Given the description of an element on the screen output the (x, y) to click on. 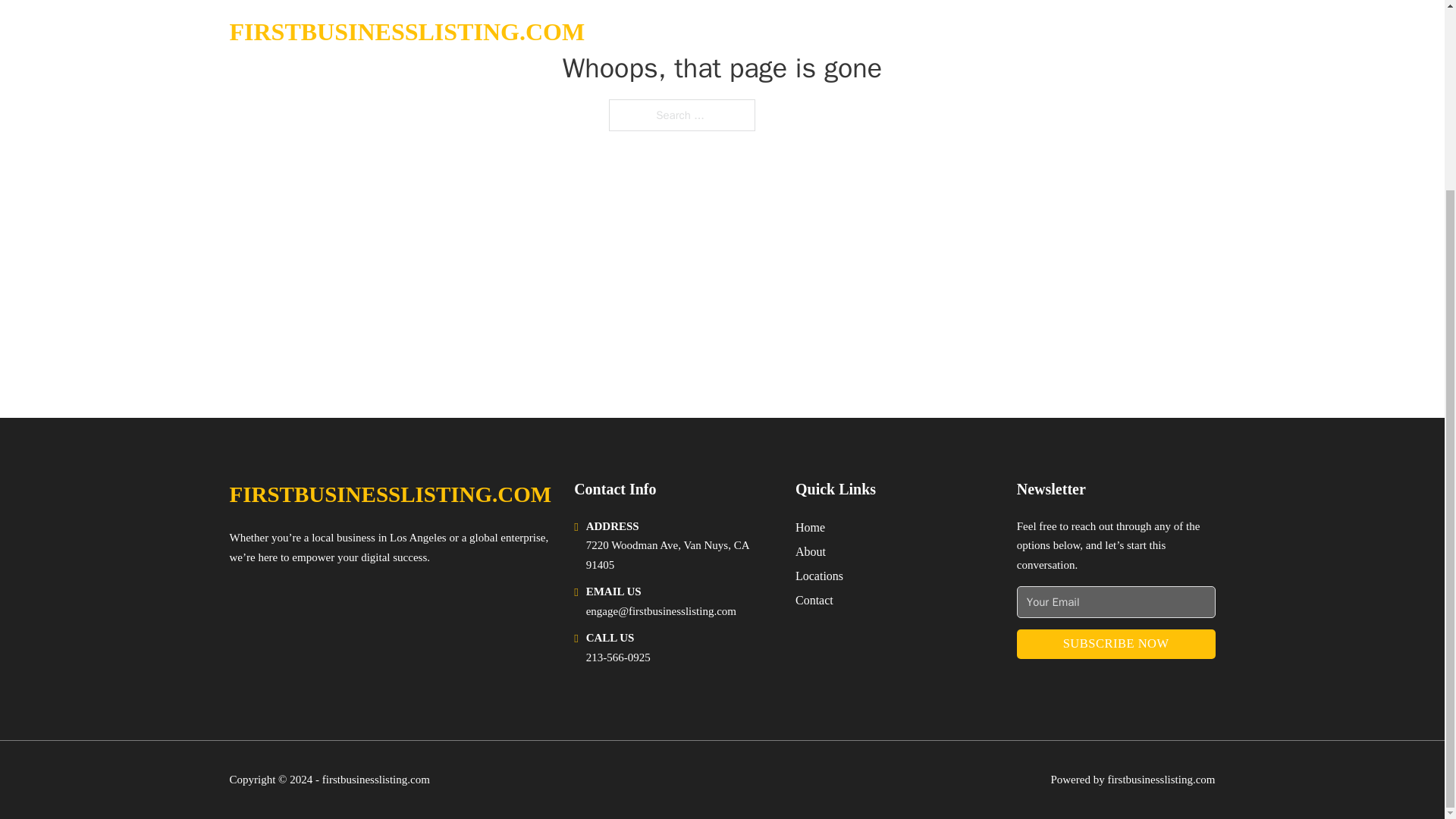
FIRSTBUSINESSLISTING.COM (389, 494)
Contact (813, 599)
213-566-0925 (618, 657)
About (809, 551)
SUBSCRIBE NOW (1115, 644)
Locations (818, 575)
Home (809, 526)
